Given the description of an element on the screen output the (x, y) to click on. 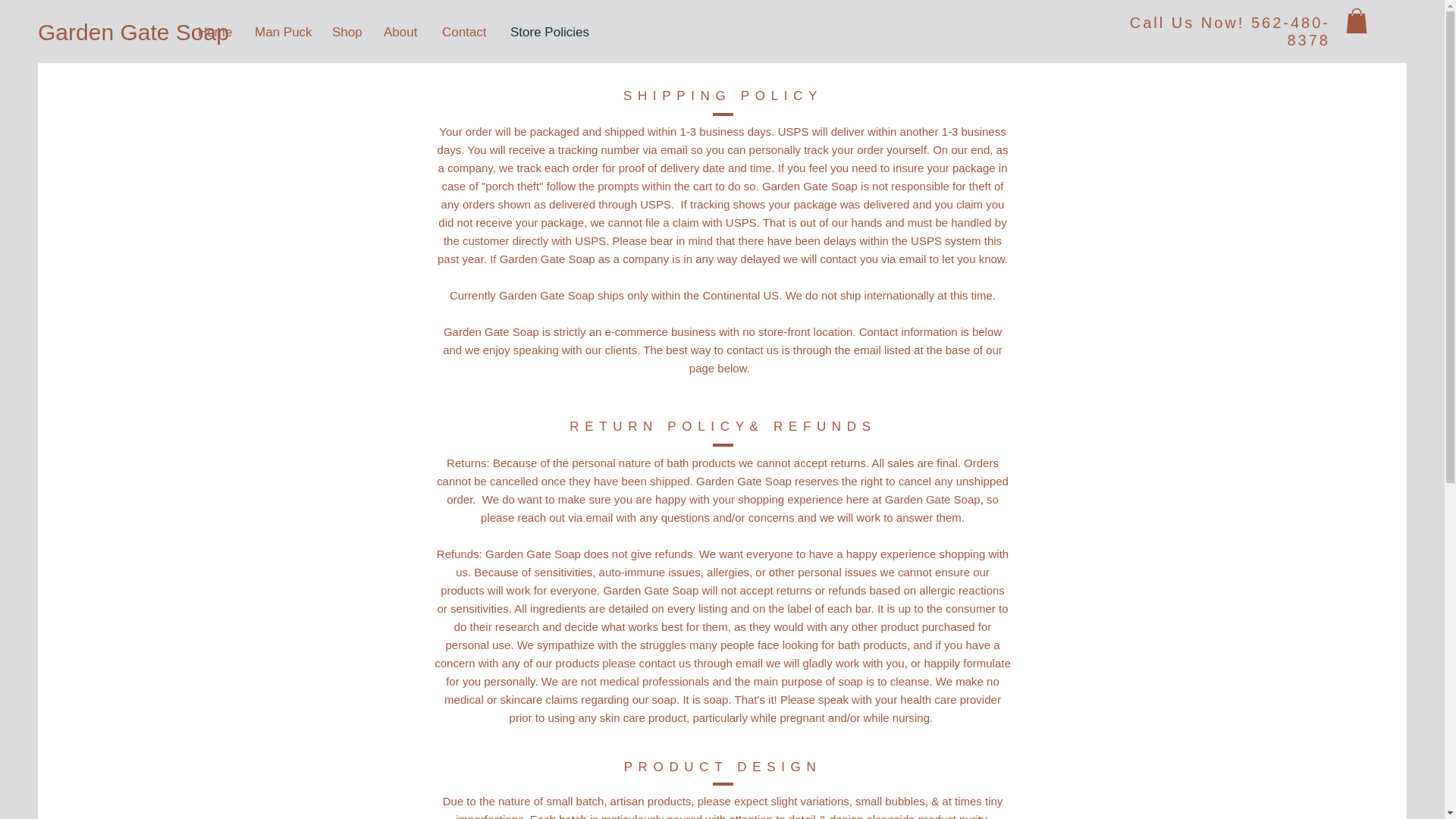
Shop (346, 32)
Garden Gate Soap (132, 31)
Store Policies (547, 32)
Home (214, 32)
Contact (464, 32)
Man Puck (281, 32)
About (401, 32)
